Given the description of an element on the screen output the (x, y) to click on. 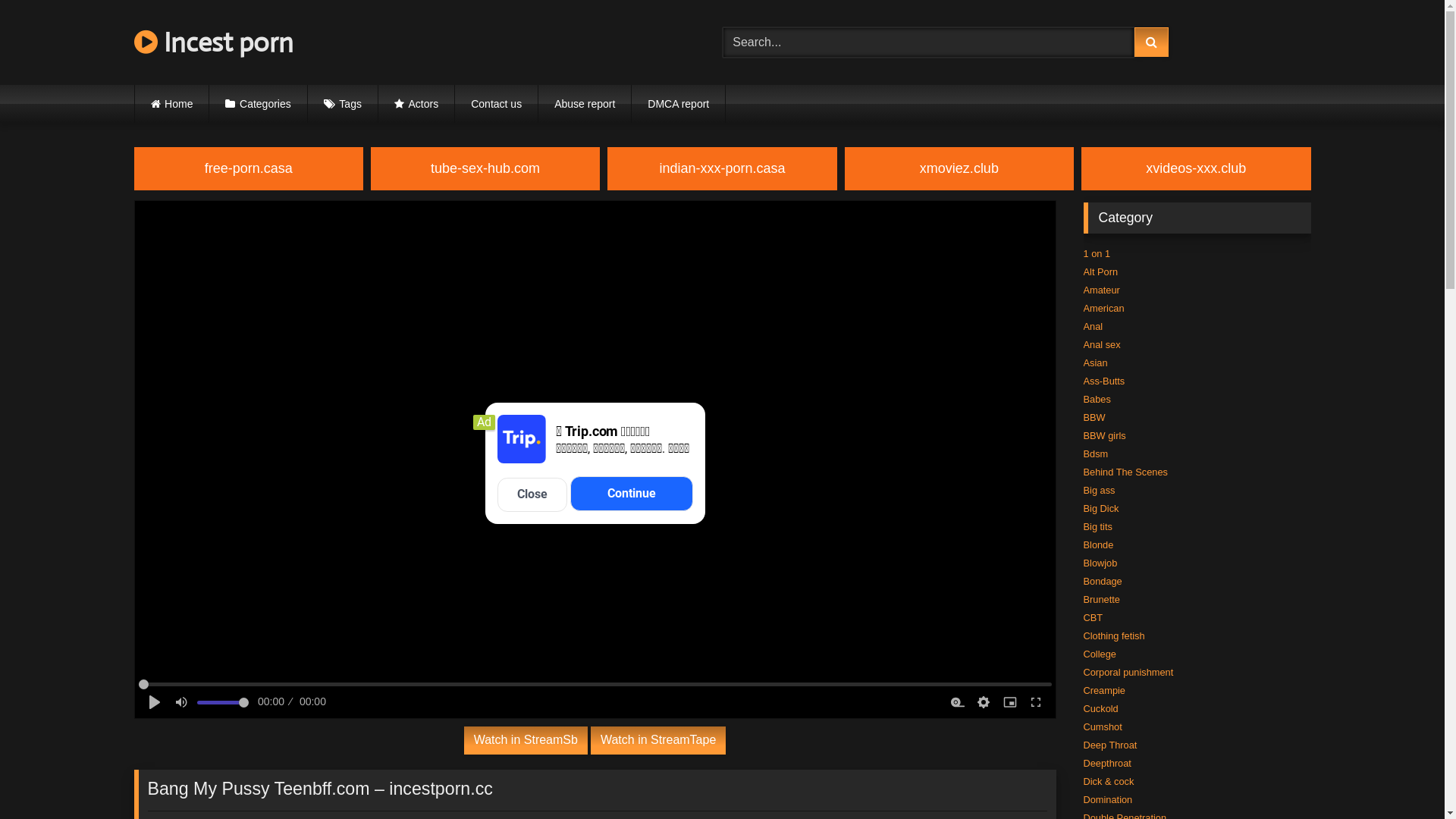
Clothing fetish Element type: text (1113, 635)
Abuse report Element type: text (584, 103)
BBW girls Element type: text (1103, 435)
Cuckold Element type: text (1099, 708)
Alt Porn Element type: text (1099, 271)
College Element type: text (1098, 653)
indian-xxx-porn.casa Element type: text (721, 168)
DMCA report Element type: text (677, 103)
xmoviez.club Element type: text (958, 168)
Watch in StreamSb Element type: text (525, 740)
tube-sex-hub.com Element type: text (484, 168)
Creampie Element type: text (1103, 690)
Actors Element type: text (416, 103)
Brunette Element type: text (1100, 599)
Incest porn Element type: text (212, 41)
Tags Element type: text (342, 103)
Cumshot Element type: text (1101, 726)
Bdsm Element type: text (1094, 453)
Bondage Element type: text (1101, 580)
Watch in StreamTape Element type: text (657, 740)
Big ass Element type: text (1098, 489)
American Element type: text (1102, 307)
Amateur Element type: text (1100, 289)
Home Element type: text (171, 103)
Behind The Scenes Element type: text (1124, 471)
Ass-Butts Element type: text (1103, 380)
xvideos-xxx.club Element type: text (1195, 168)
Categories Element type: text (257, 103)
Asian Element type: text (1094, 362)
BBW Element type: text (1093, 417)
Contact us Element type: text (496, 103)
Big Dick Element type: text (1100, 508)
Babes Element type: text (1096, 398)
Skip to content Element type: text (0, 0)
Corporal punishment Element type: text (1127, 671)
Deepthroat Element type: text (1106, 762)
Blowjob Element type: text (1099, 562)
free-porn.casa Element type: text (247, 168)
Domination Element type: text (1107, 799)
Dick & cock Element type: text (1107, 781)
Blonde Element type: text (1097, 544)
Big tits Element type: text (1096, 526)
Anal Element type: text (1092, 326)
CBT Element type: text (1092, 617)
Deep Throat Element type: text (1109, 744)
Anal sex Element type: text (1101, 344)
1 on 1 Element type: text (1096, 253)
